Given the description of an element on the screen output the (x, y) to click on. 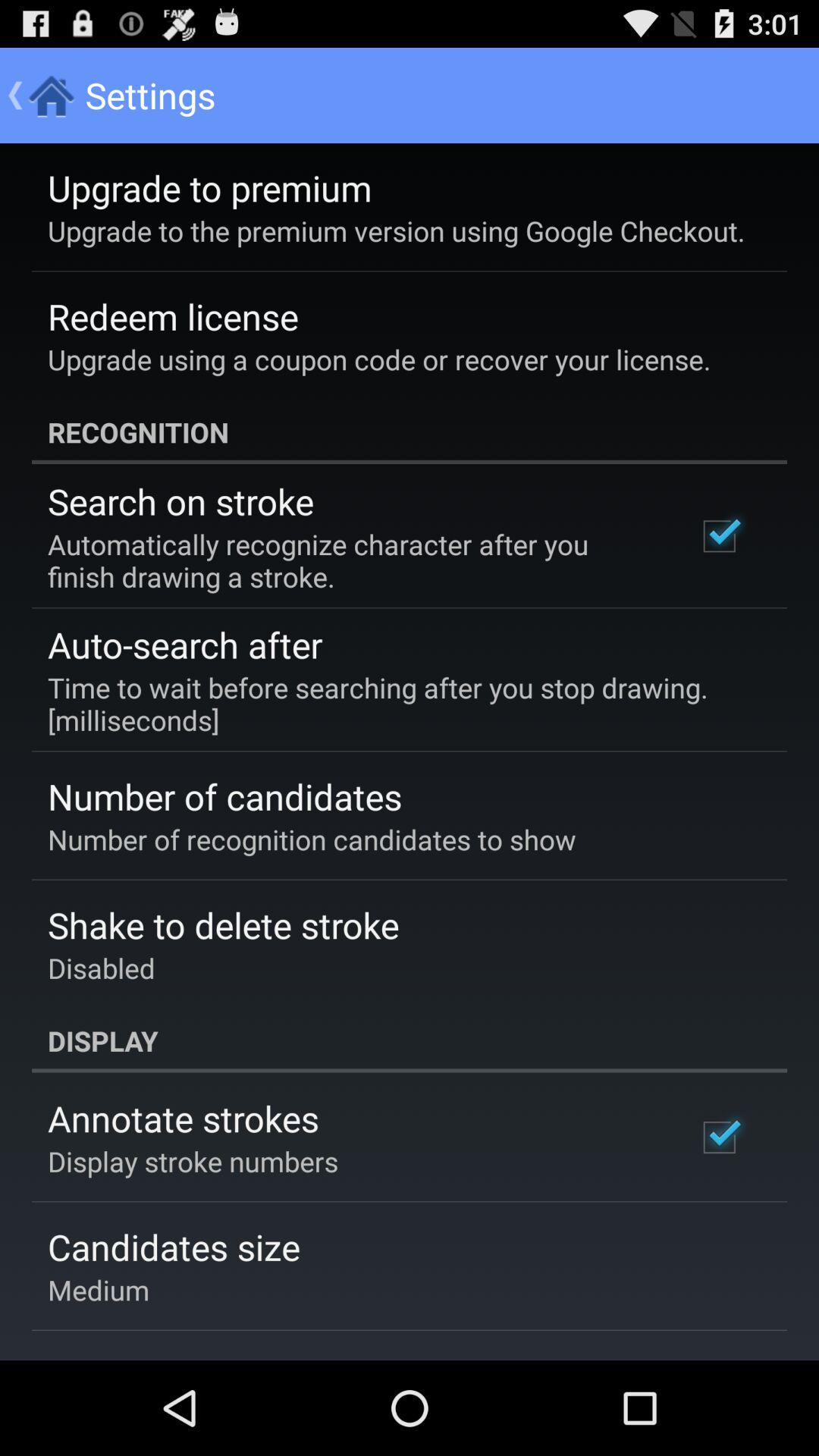
select the display stroke numbers icon (192, 1161)
